Given the description of an element on the screen output the (x, y) to click on. 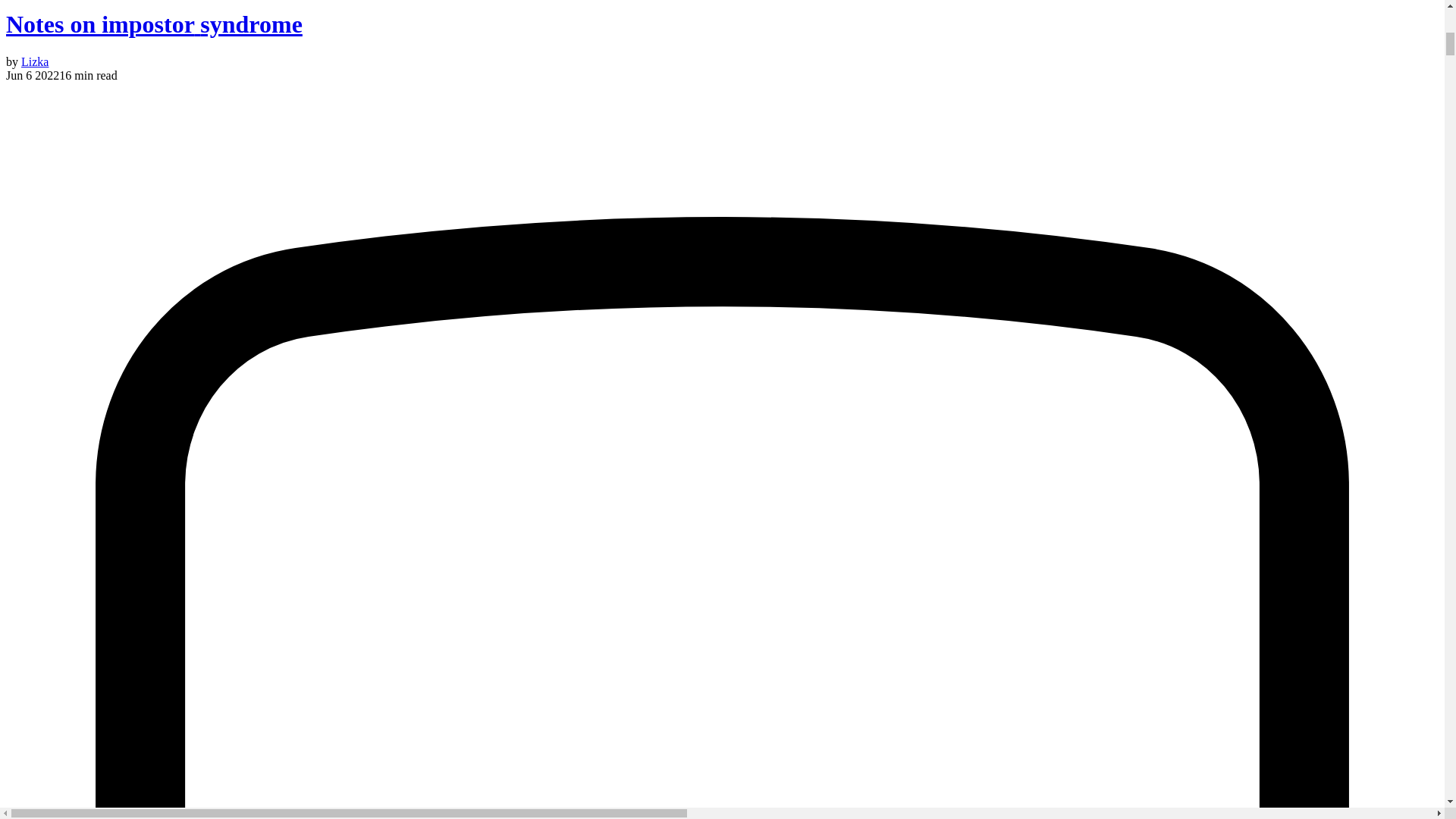
Notes on impostor syndrome (153, 23)
Lizka (34, 61)
